Given the description of an element on the screen output the (x, y) to click on. 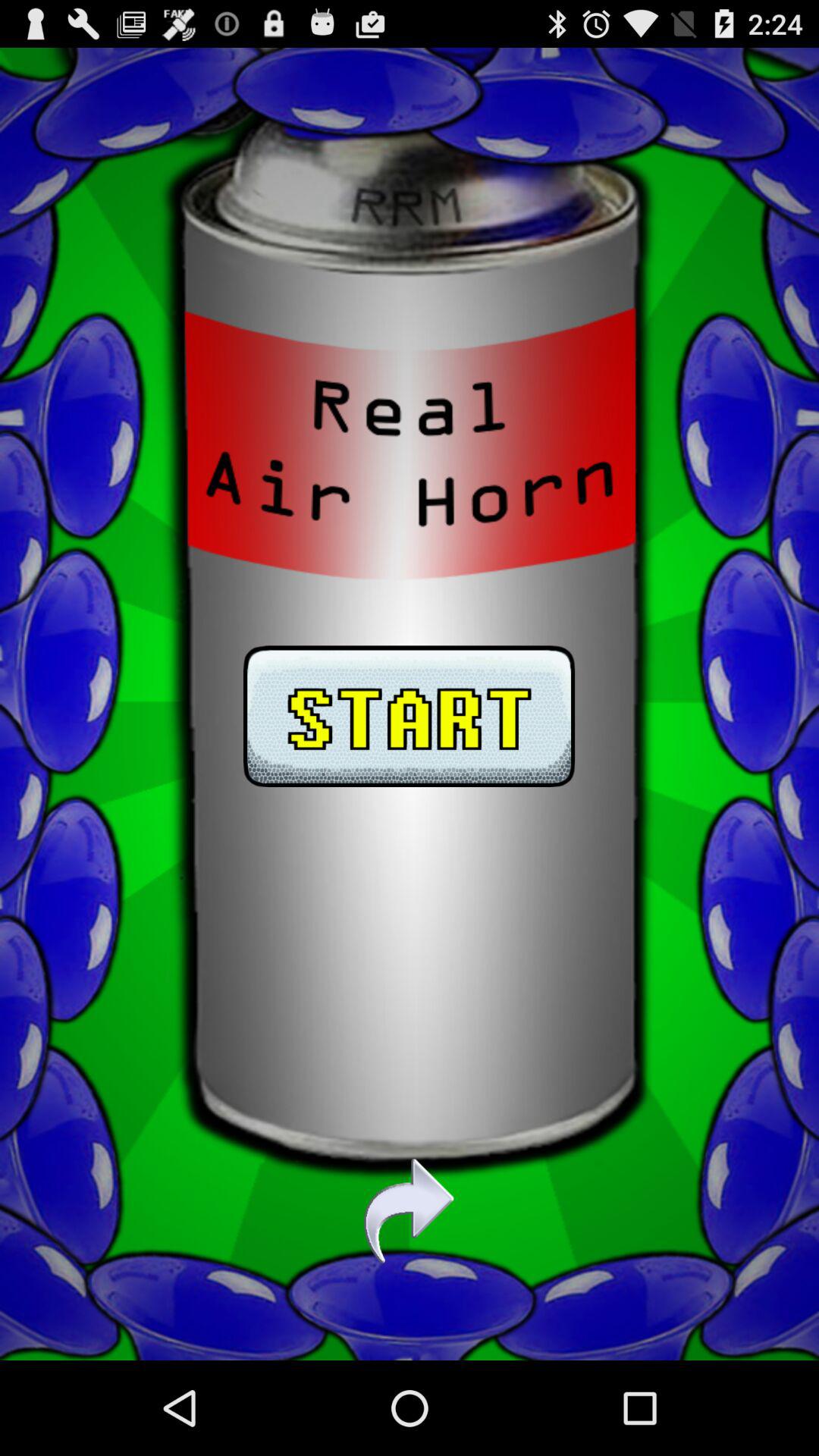
start air horn (409, 704)
